Given the description of an element on the screen output the (x, y) to click on. 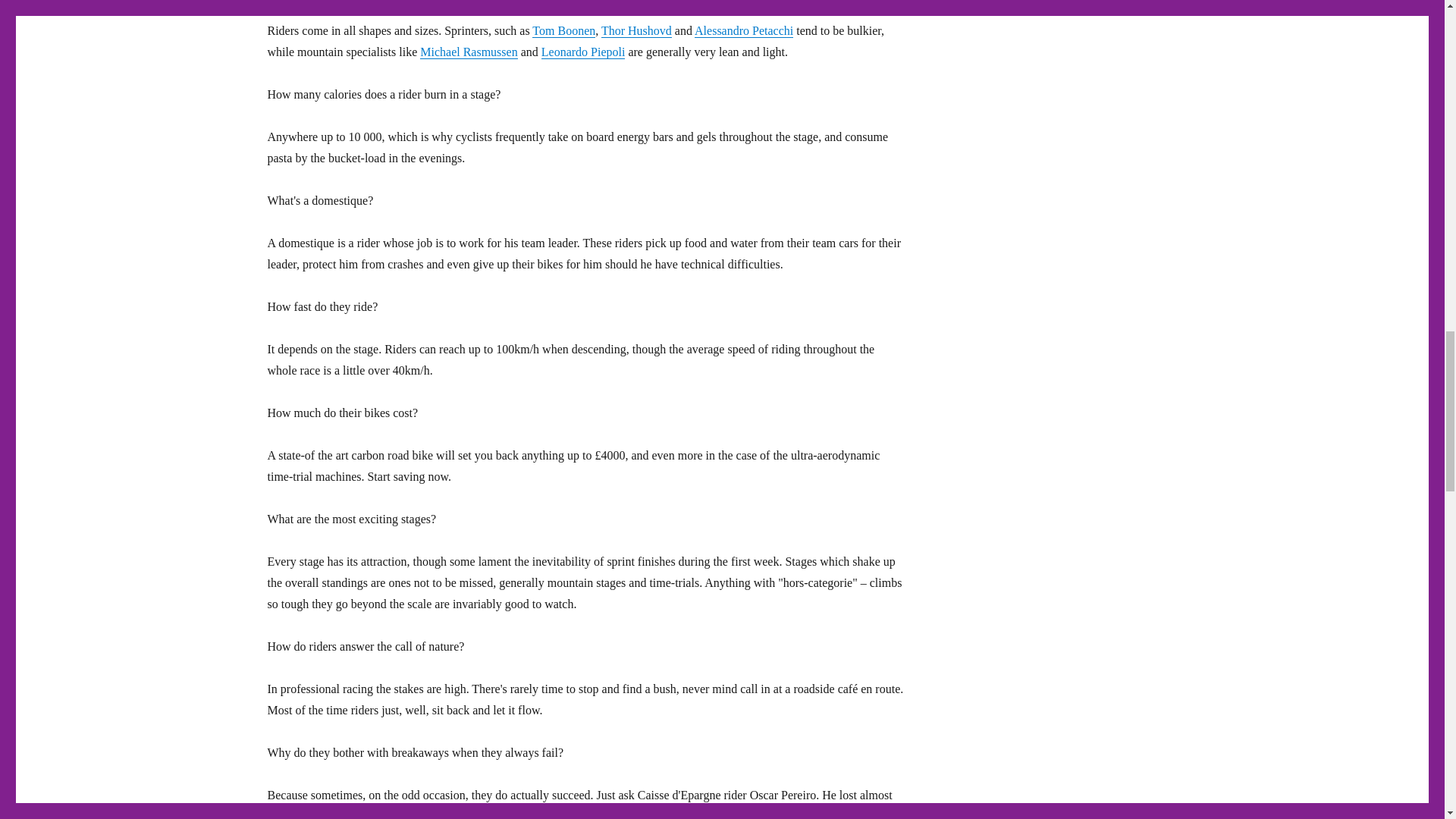
Michael Rasmussen (468, 51)
Tom Boonen (563, 30)
Leonardo Piepoli (583, 51)
Alessandro Petacchi (743, 30)
Thor Hushovd (636, 30)
Floyd Landis (828, 814)
